Given the description of an element on the screen output the (x, y) to click on. 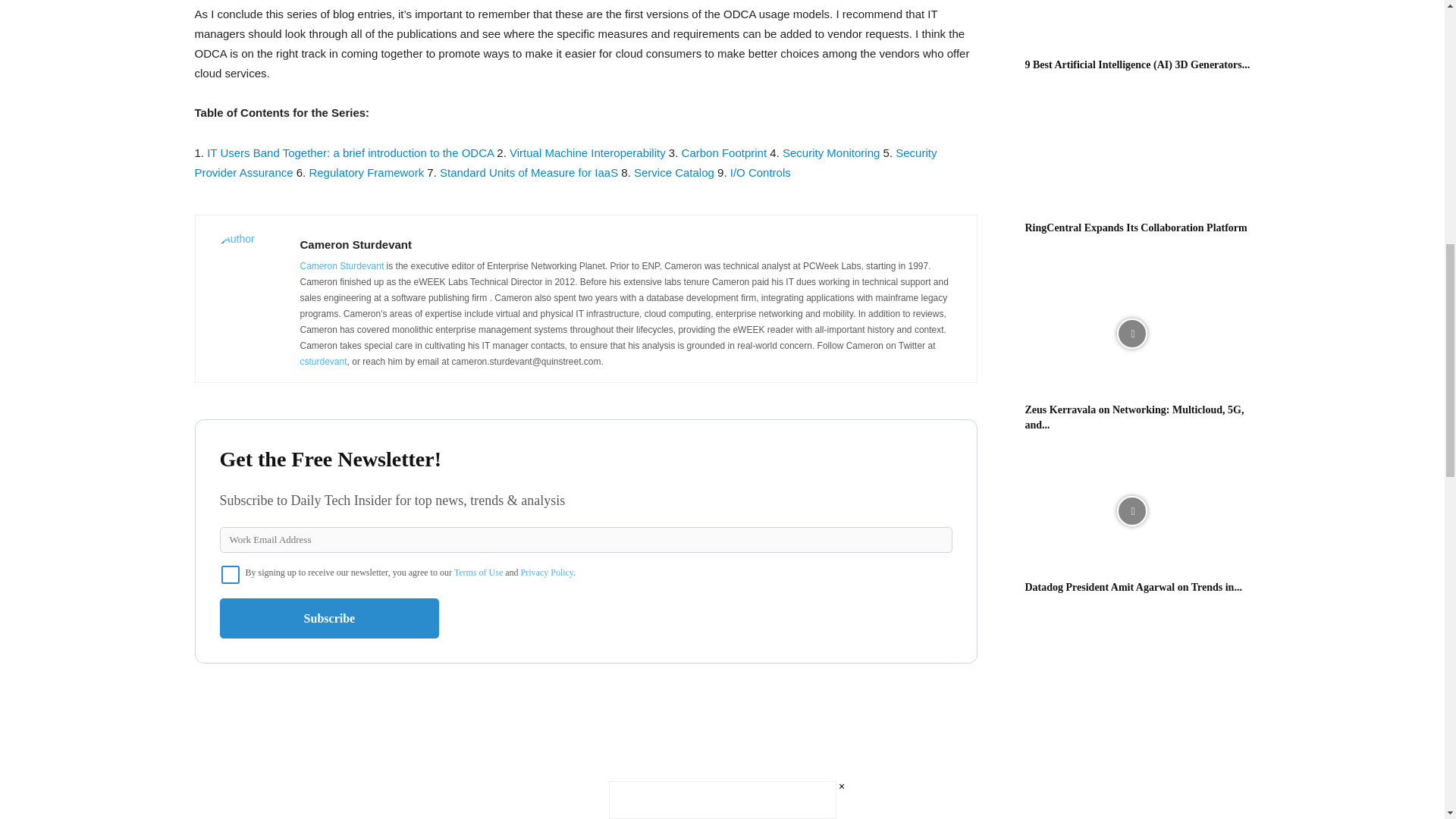
RingCentral Expands Its Collaboration Platform (1131, 151)
Zeus Kerravala on Networking: Multicloud, 5G, and Automation (1134, 417)
Zeus Kerravala on Networking: Multicloud, 5G, and Automation (1131, 333)
RingCentral Expands Its Collaboration Platform (1136, 227)
on (230, 574)
